Given the description of an element on the screen output the (x, y) to click on. 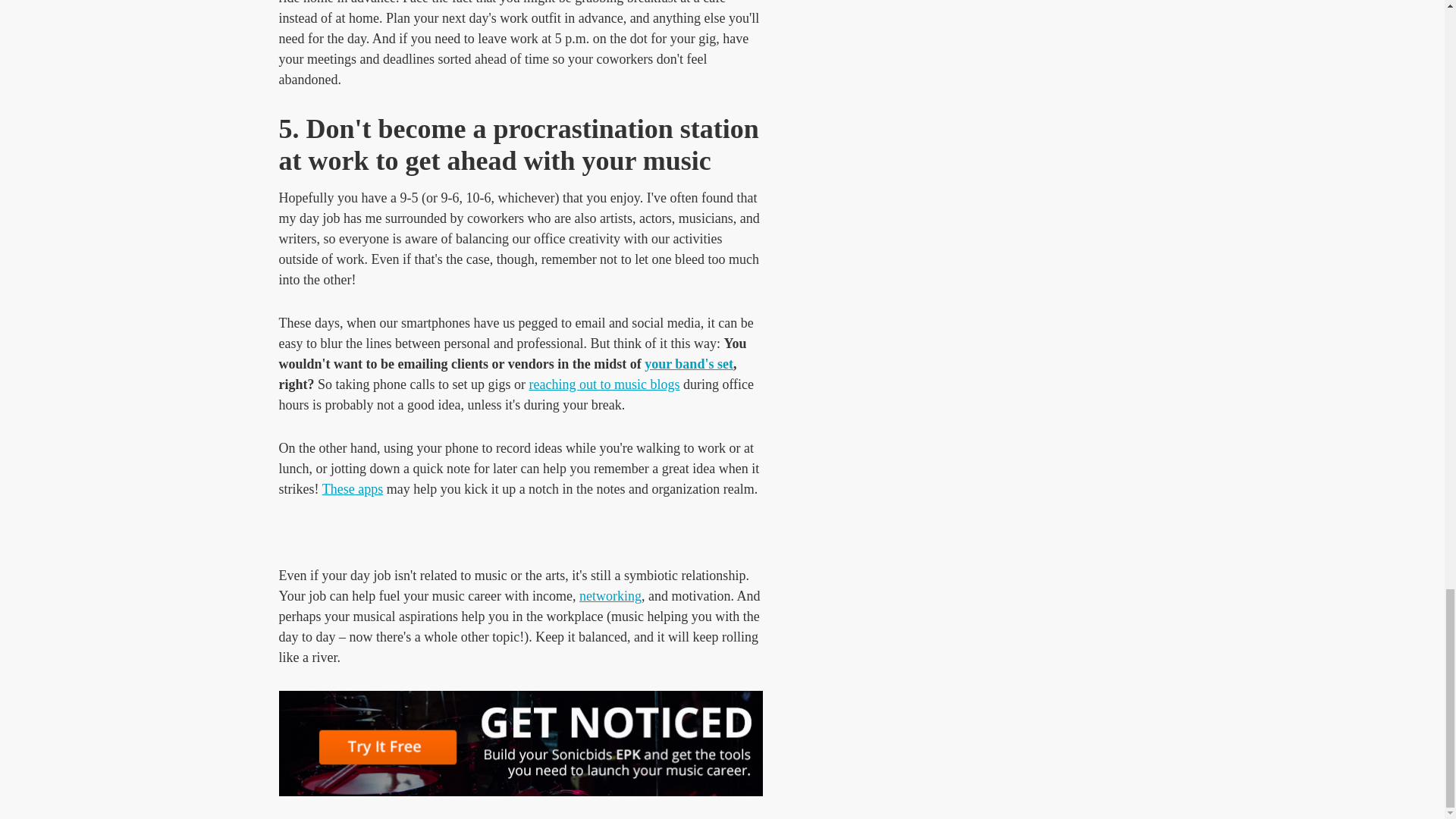
networking (610, 595)
These apps (351, 488)
reaching out to music blogs (603, 384)
your band's set (689, 363)
